Given the description of an element on the screen output the (x, y) to click on. 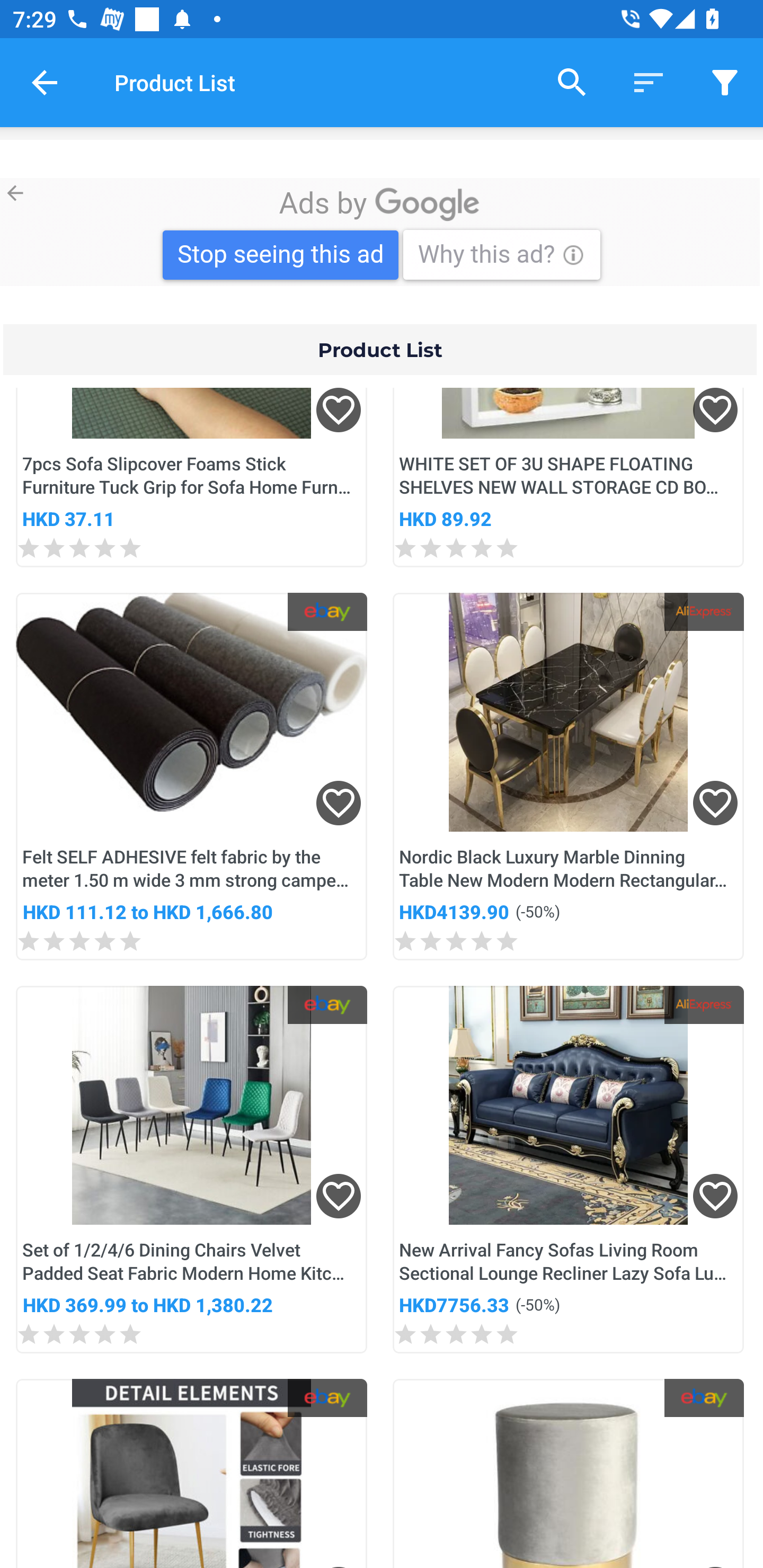
Navigate up (44, 82)
Search (572, 81)
short (648, 81)
short (724, 81)
